Given the description of an element on the screen output the (x, y) to click on. 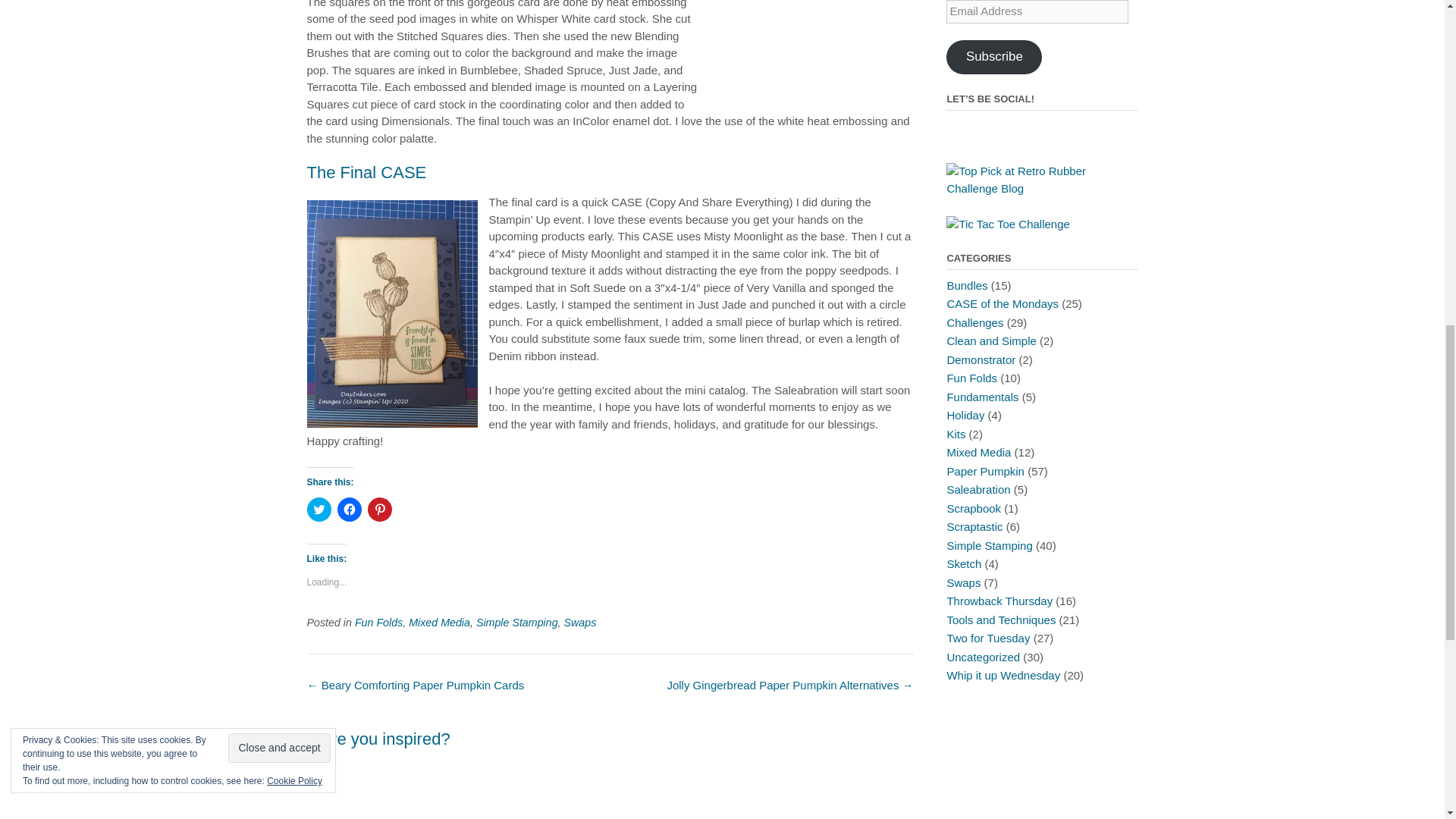
Subscribe (994, 57)
Click to share on Facebook (348, 509)
Bundles (966, 285)
Pinterest (958, 129)
Demonstrator (980, 359)
CASE of the Mondays (1002, 303)
Mixed Media (439, 622)
Fun Folds (379, 622)
Fun Folds (971, 377)
Click to share on Twitter (317, 509)
